Given the description of an element on the screen output the (x, y) to click on. 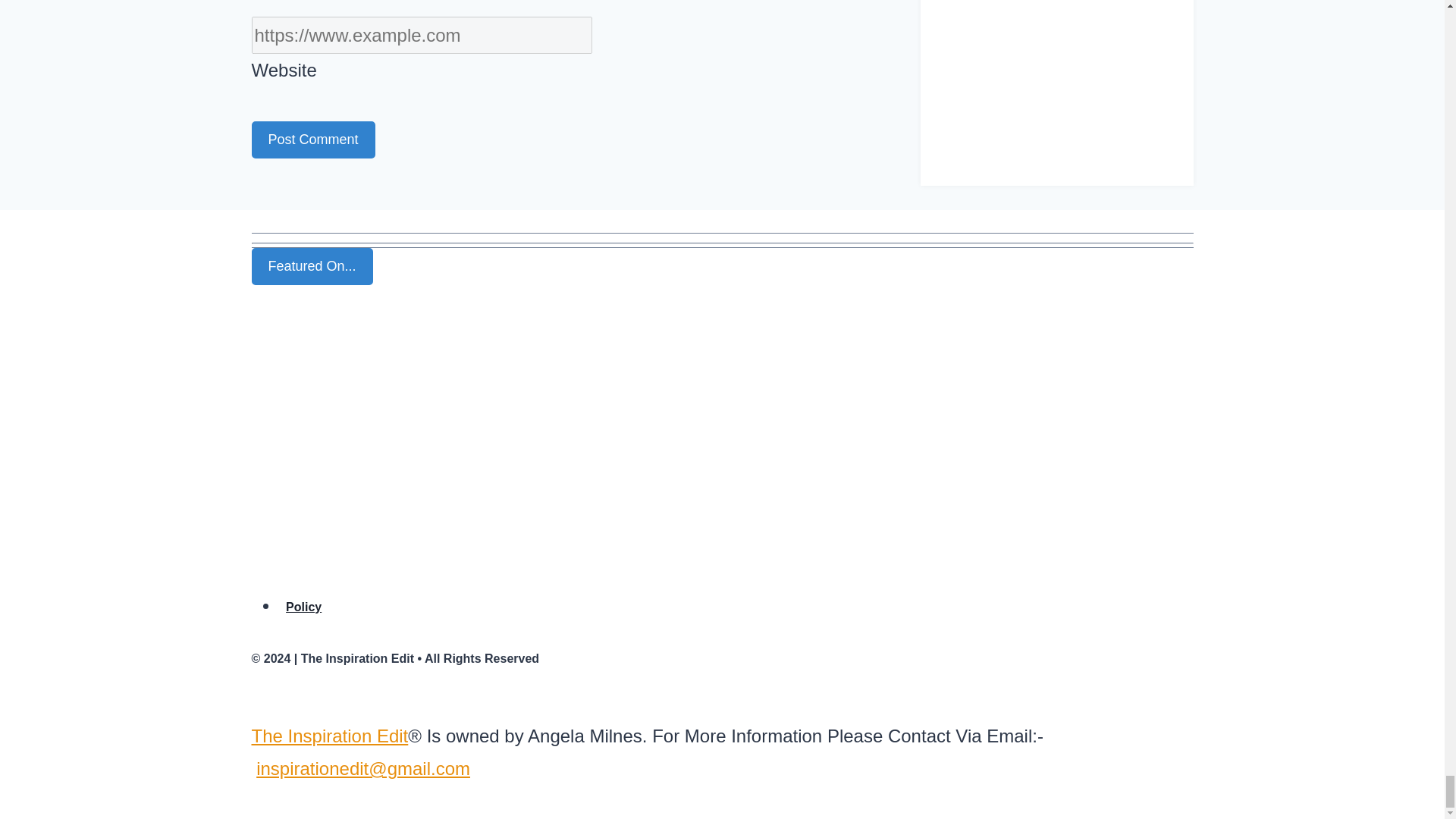
Post Comment (313, 139)
